Given the description of an element on the screen output the (x, y) to click on. 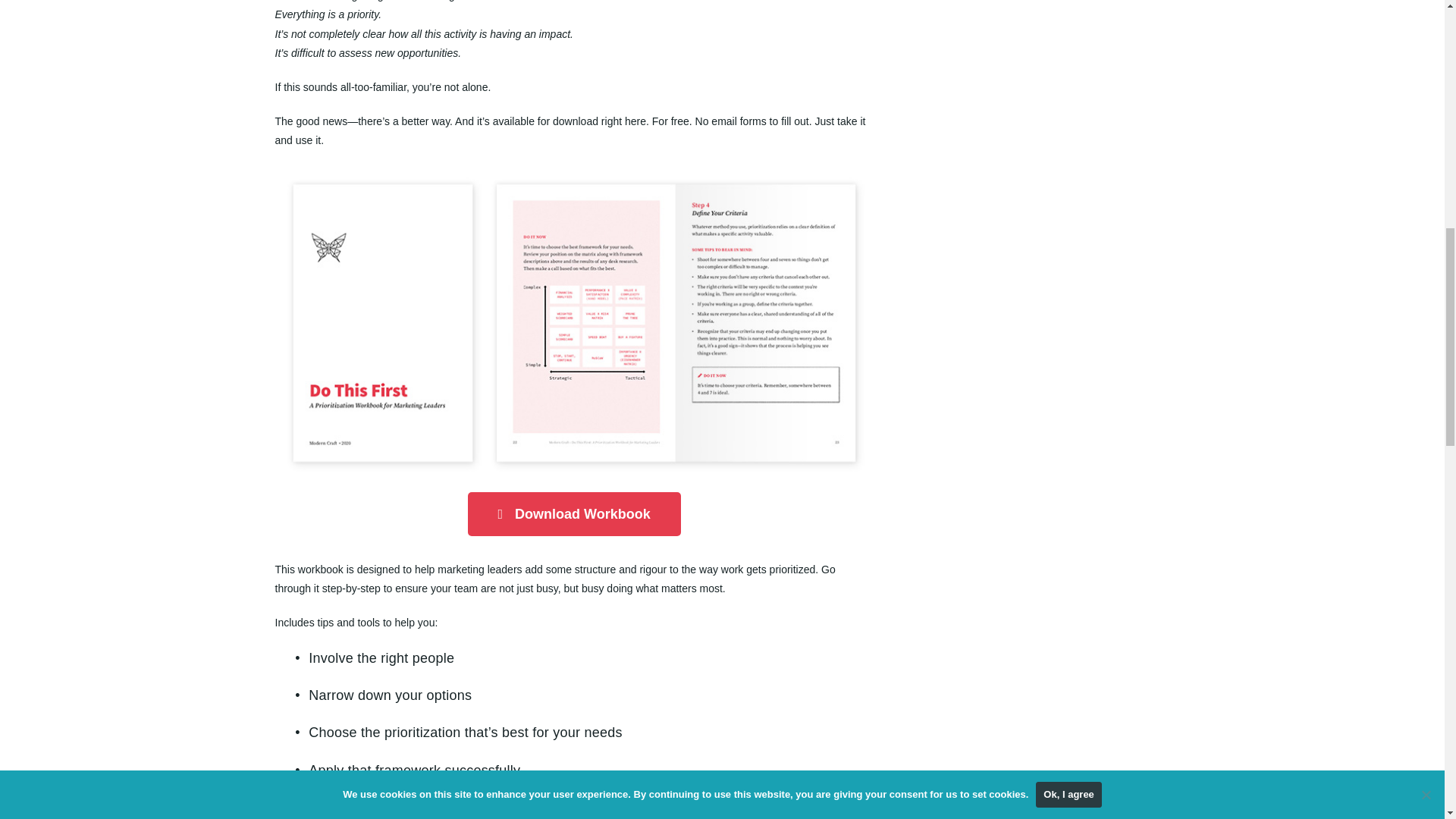
Download Workbook (574, 514)
